Given the description of an element on the screen output the (x, y) to click on. 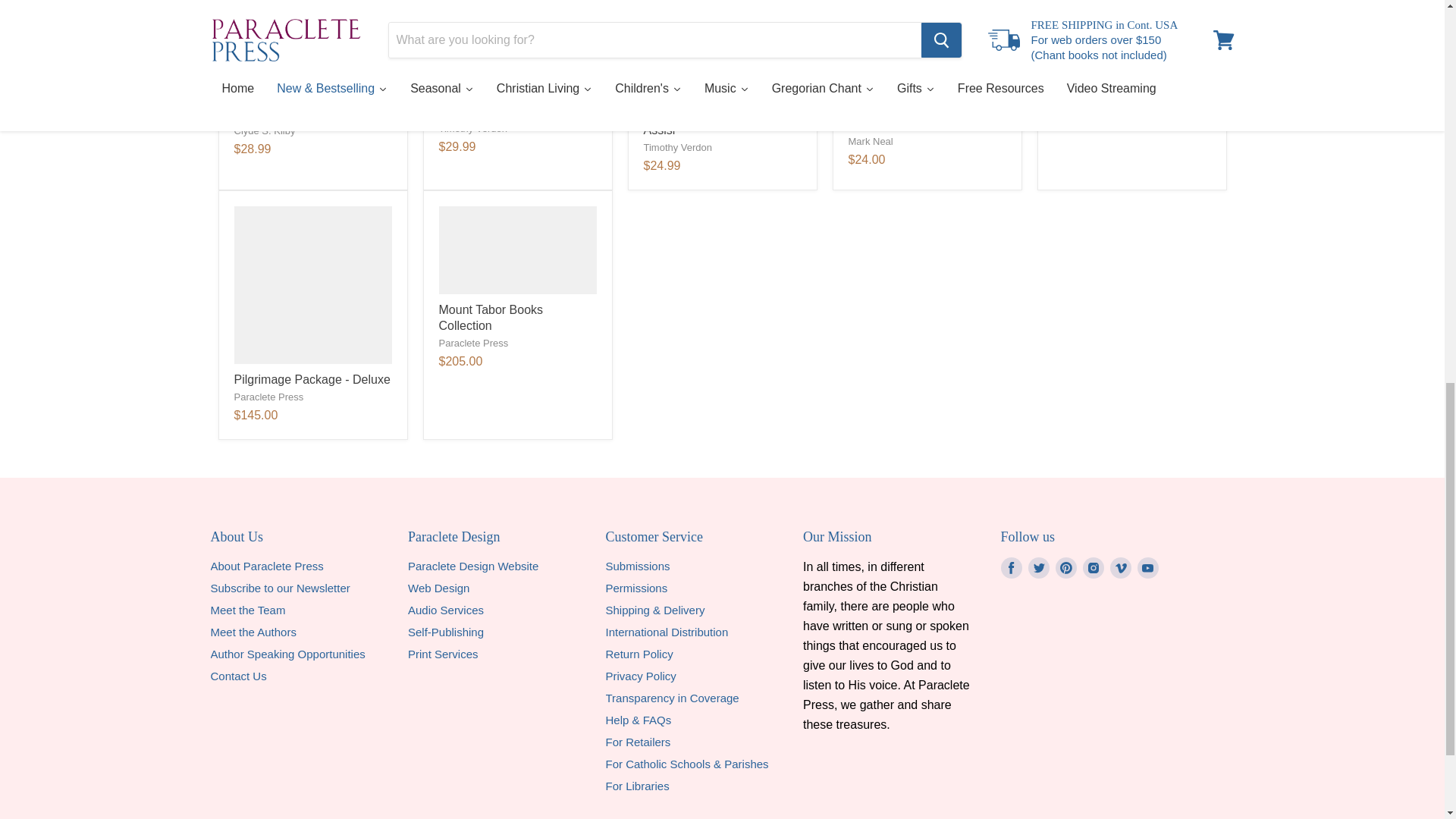
Youtube (1147, 567)
Twitter (1038, 567)
Pinterest (1066, 567)
Facebook (1011, 567)
Vimeo (1120, 567)
Instagram (1093, 567)
